Given the description of an element on the screen output the (x, y) to click on. 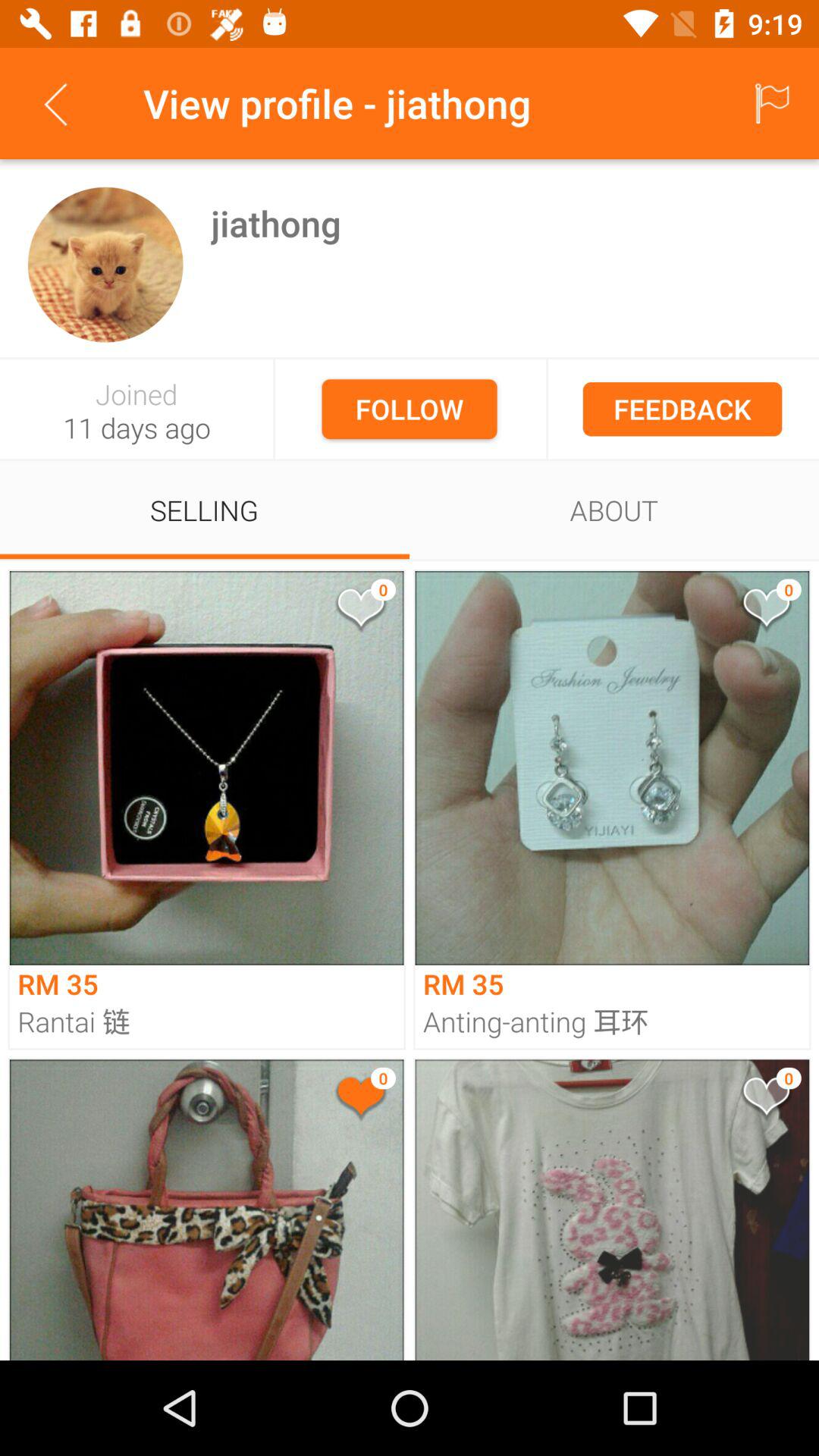
save a product for later (765, 1099)
